Given the description of an element on the screen output the (x, y) to click on. 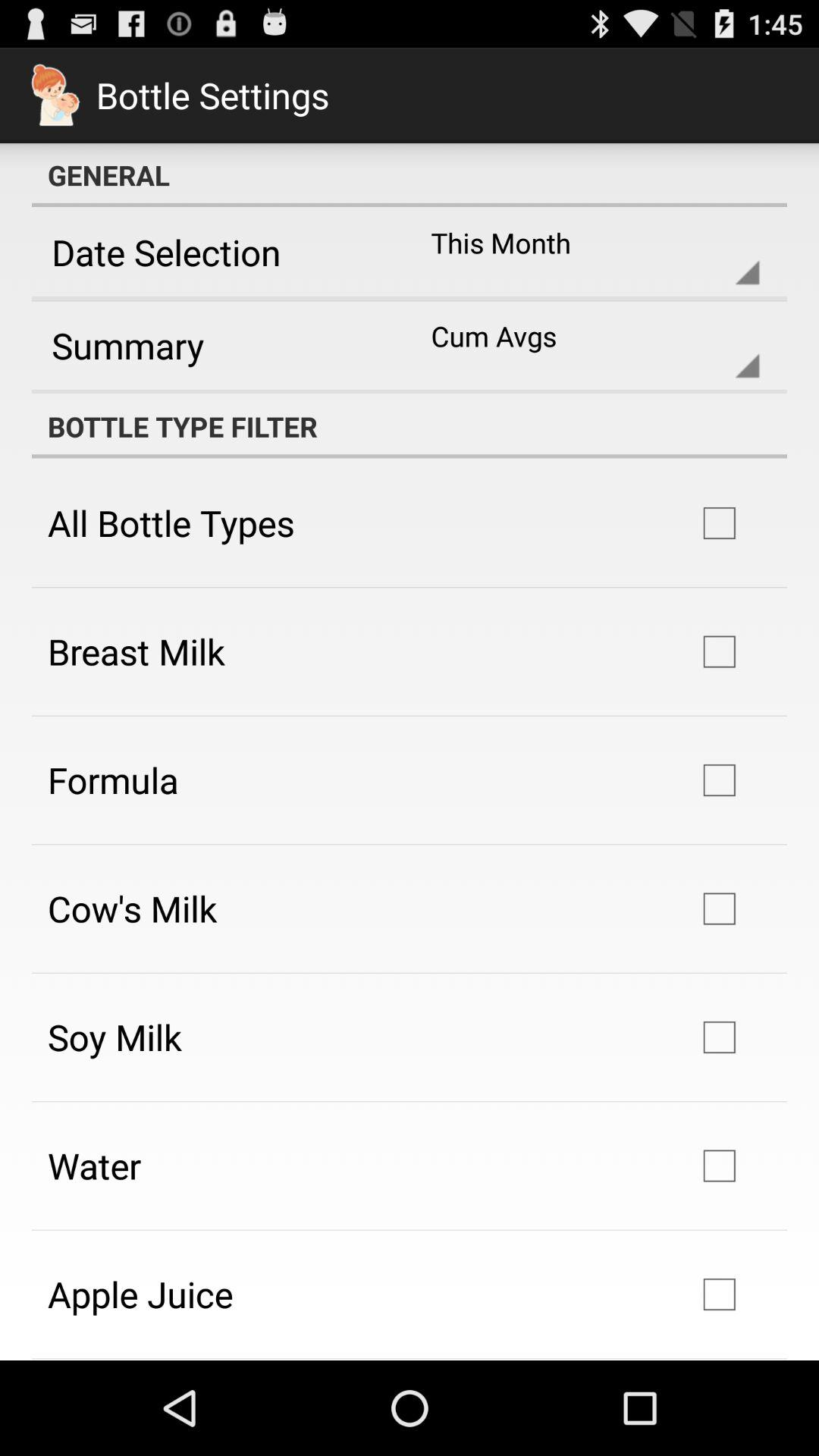
jump until the bottle type filter icon (409, 426)
